Given the description of an element on the screen output the (x, y) to click on. 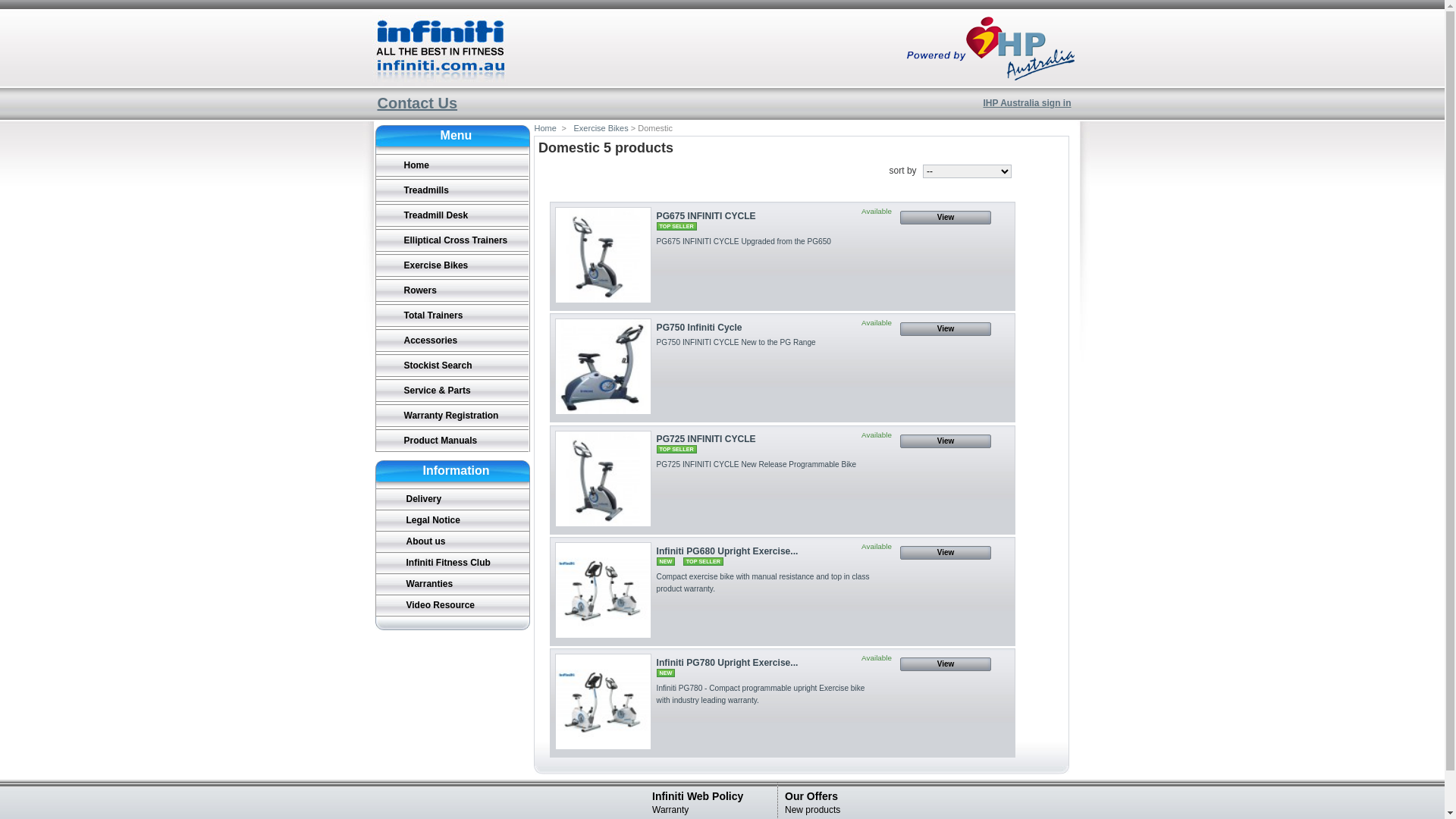
PG725 INFINITI CYCLE Element type: text (706, 438)
PG675 INFINITI CYCLE Element type: text (706, 215)
Exercise Bikes Element type: text (599, 127)
Total Trainers Element type: text (452, 315)
Infiniti PG780 Upright Exercise... Element type: text (727, 662)
View Element type: text (945, 664)
View Element type: text (945, 217)
Infiniti PG680 Upright Exercise... Element type: text (727, 551)
Elliptical Cross Trainers Element type: text (452, 240)
Contact Us Element type: text (417, 102)
Infiniti Fitness Club Element type: text (452, 562)
Video Resource Element type: text (452, 604)
IHP Australia sign in Element type: text (1026, 102)
About us Element type: text (452, 541)
Product Manuals Element type: text (452, 440)
PG750 Infiniti Cycle Element type: hover (603, 366)
Infiniti PG680 Upright Exercise Bike Element type: hover (603, 590)
Stockist Search Element type: text (452, 365)
PG750 Infiniti Cycle Element type: text (699, 327)
Rowers Element type: text (452, 290)
Home Element type: text (452, 164)
Exercise Bikes Element type: text (452, 265)
Warranties Element type: text (452, 583)
PG725 INFINITI CYCLE New Release Programmable Bike Element type: text (756, 464)
Treadmills Element type: text (452, 189)
Legal Notice Element type: text (452, 519)
Accessories Element type: text (452, 340)
View Element type: text (945, 441)
View Element type: text (945, 552)
Warranty Element type: text (670, 809)
PG675 INFINITI CYCLE Element type: hover (603, 255)
Infiniti PG780 Upright Exercise Bike Element type: hover (603, 701)
Delivery Element type: text (452, 498)
Warranty Registration Element type: text (452, 415)
Treadmill Desk Element type: text (452, 214)
PG675 INFINITI CYCLE Upgraded from the PG650 Element type: text (743, 241)
PG750 INFINITI CYCLE New to the PG Range Element type: text (735, 342)
View Element type: text (945, 328)
PG725 INFINITI CYCLE Element type: hover (603, 478)
Home Element type: text (544, 127)
Service & Parts Element type: text (452, 390)
